Given the description of an element on the screen output the (x, y) to click on. 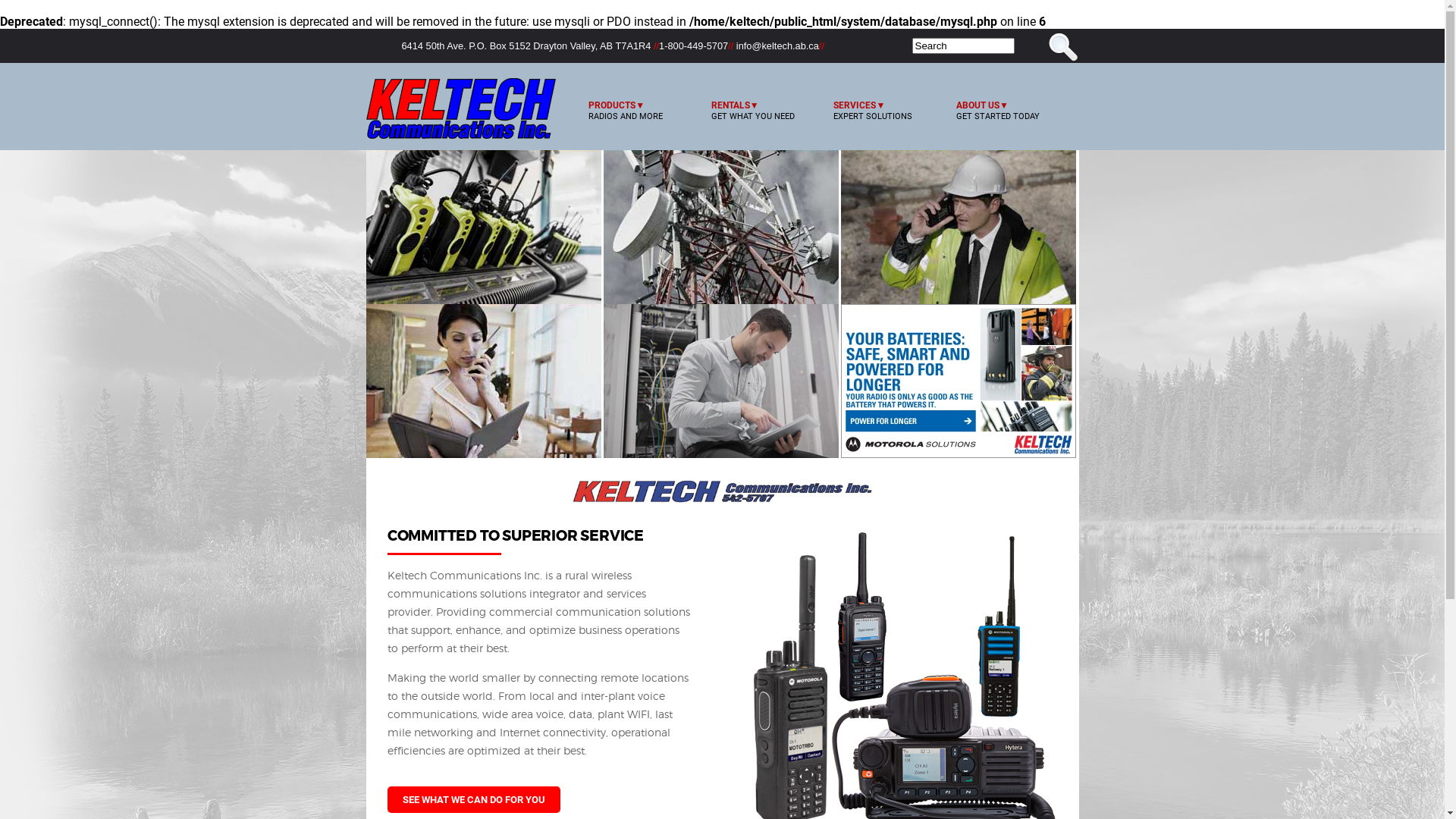
SEE WHAT WE CAN DO FOR YOU Element type: text (473, 799)
